Given the description of an element on the screen output the (x, y) to click on. 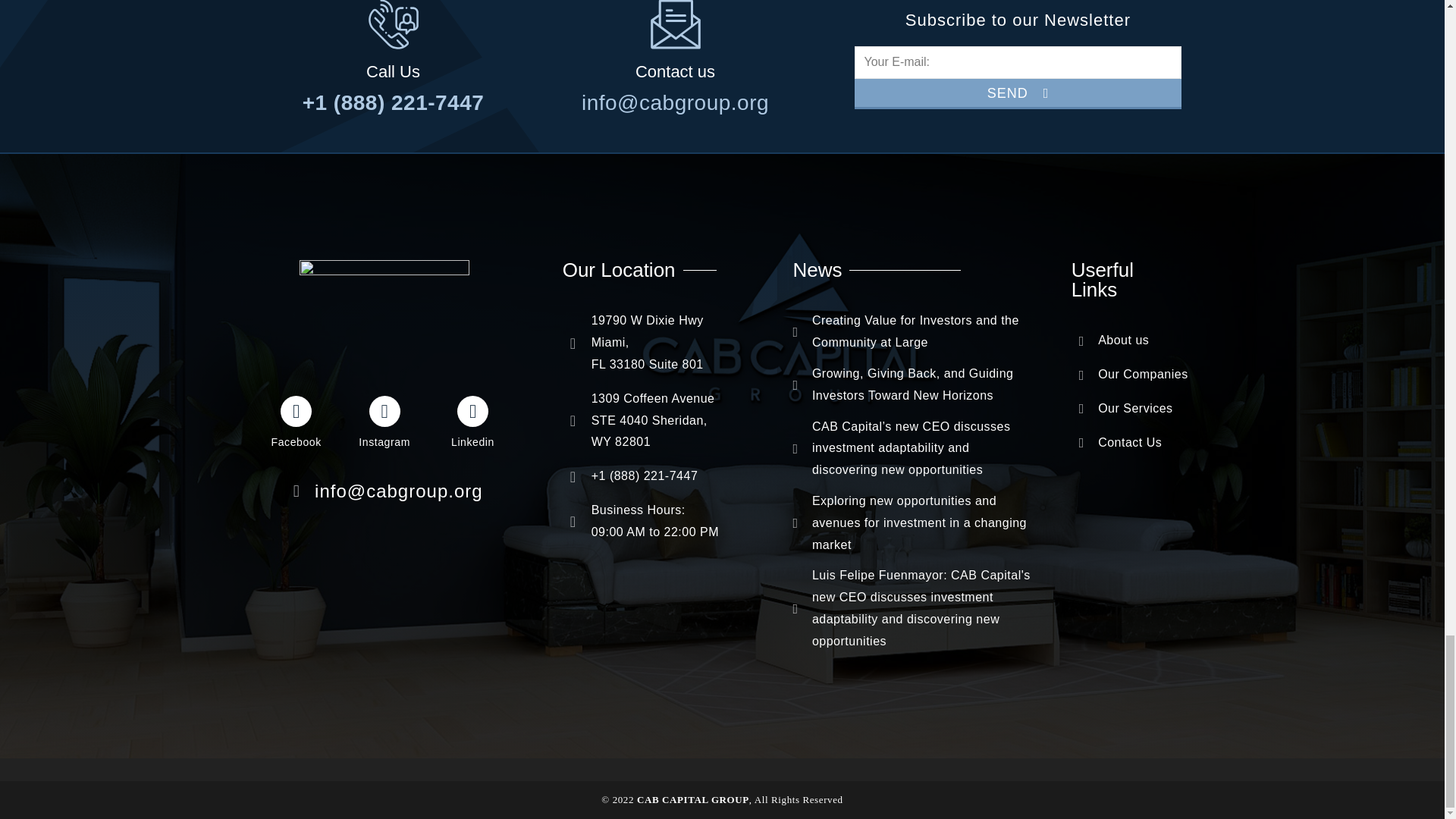
Our Companies (1134, 374)
About us (1134, 341)
Contact Us (1134, 443)
Our Services (1134, 409)
Creating Value for Investors and the Community at Large (912, 331)
SEND (1016, 93)
